Given the description of an element on the screen output the (x, y) to click on. 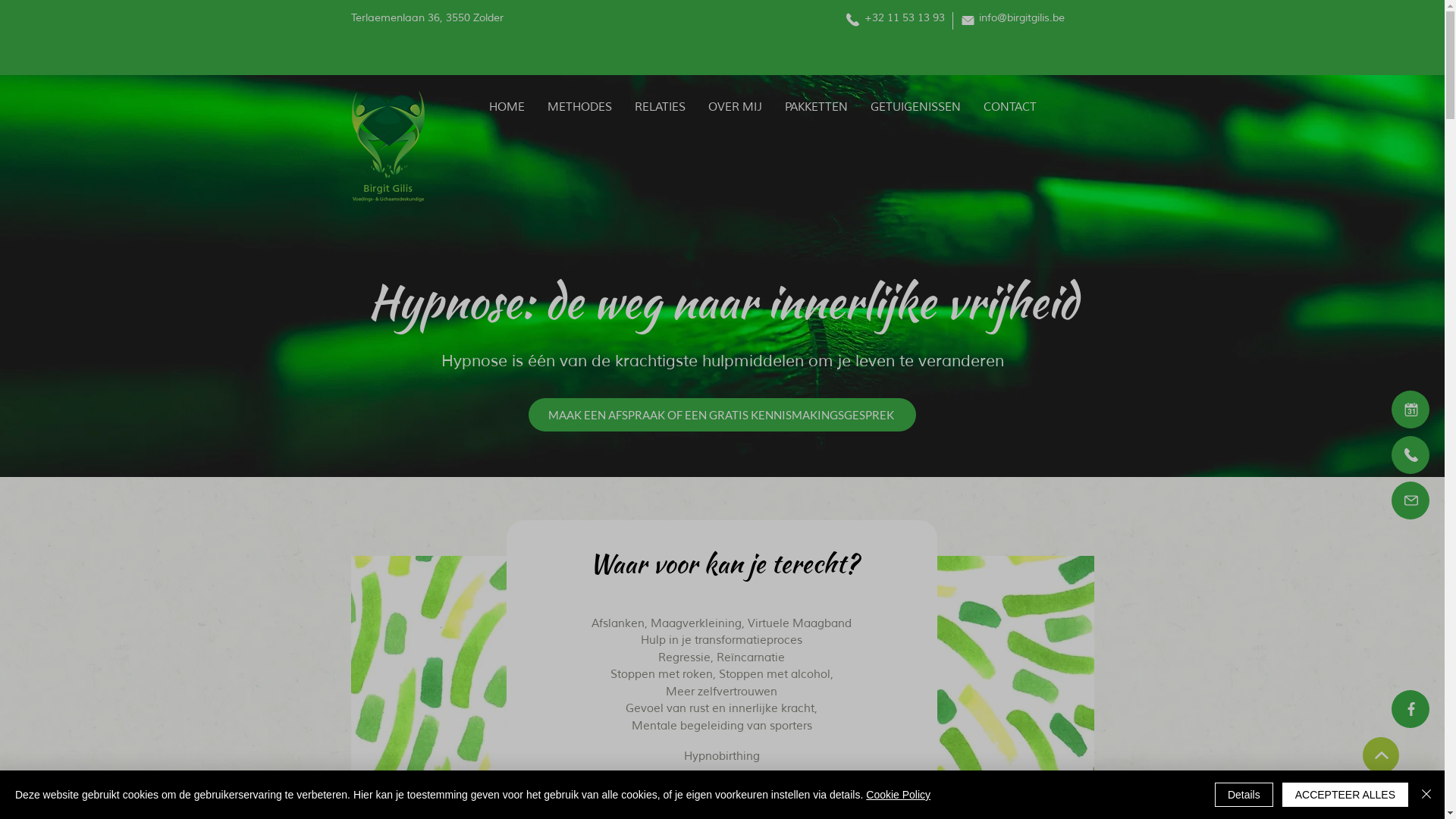
Cookie Policy Element type: text (898, 794)
GETUIGENISSEN Element type: text (915, 108)
HOME Element type: text (506, 108)
PAKKETTEN Element type: text (815, 108)
 +32 11 53 13 93 Element type: text (902, 17)
info@birgitgilis.be Element type: text (1020, 17)
RELATIES Element type: text (658, 108)
MAAK EEN AFSPRAAK OF EEN GRATIS KENNISMAKINGSGESPREK Element type: text (721, 413)
OVER MIJ Element type: text (735, 108)
Details Element type: text (1243, 794)
ACCEPTEER ALLES Element type: text (1345, 794)
CONTACT Element type: text (1008, 108)
